Given the description of an element on the screen output the (x, y) to click on. 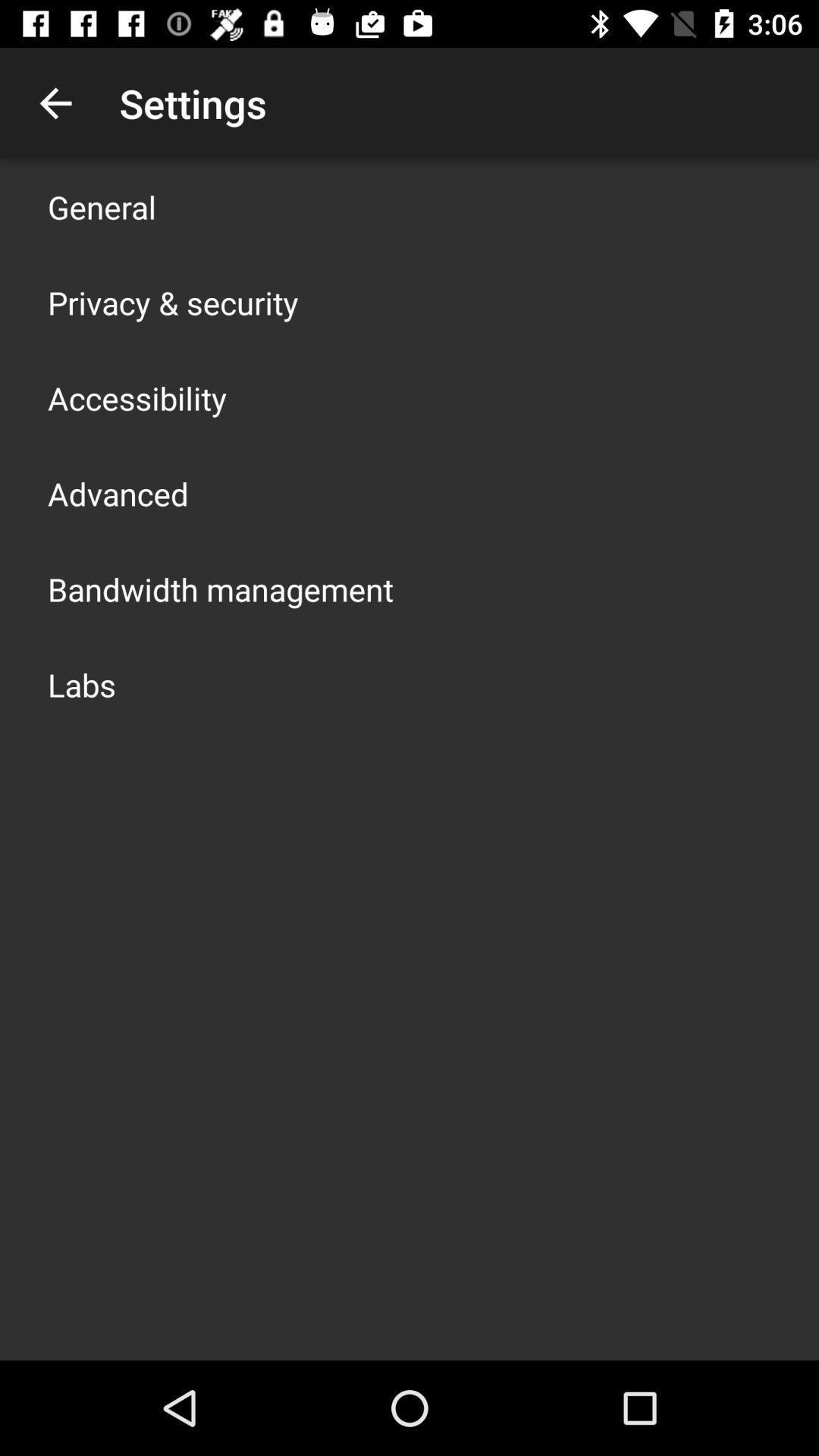
turn on the privacy & security (172, 302)
